Given the description of an element on the screen output the (x, y) to click on. 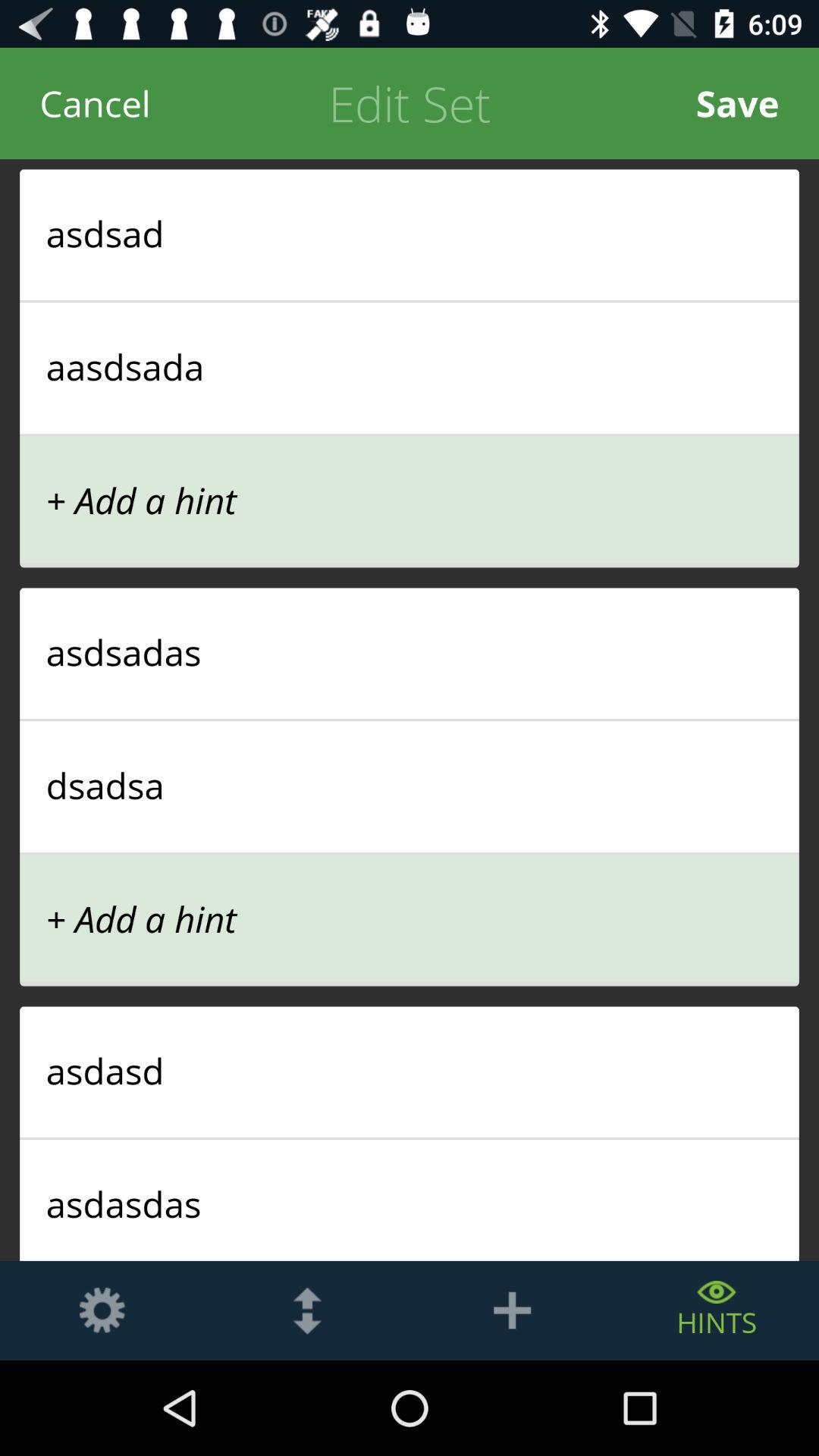
up and down (306, 1310)
